Given the description of an element on the screen output the (x, y) to click on. 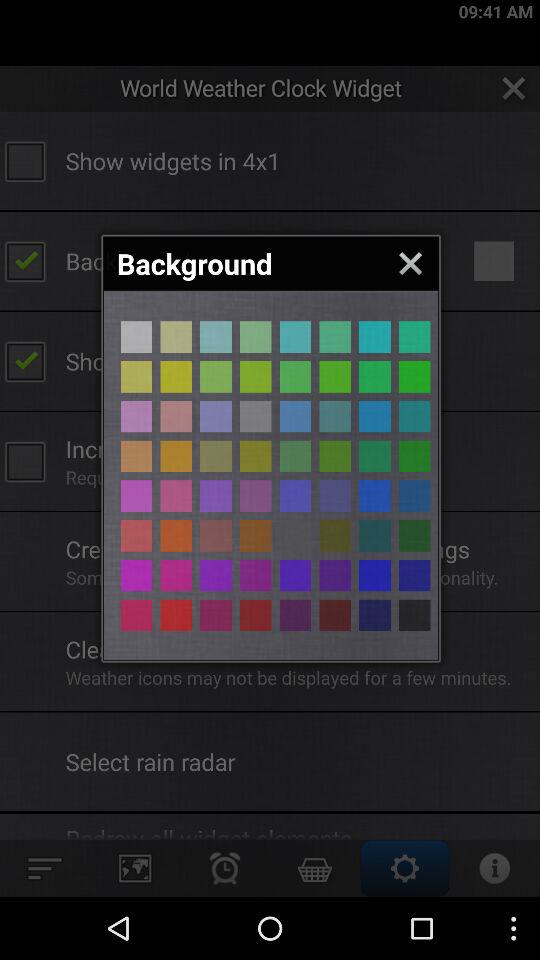
different color page (335, 336)
